Given the description of an element on the screen output the (x, y) to click on. 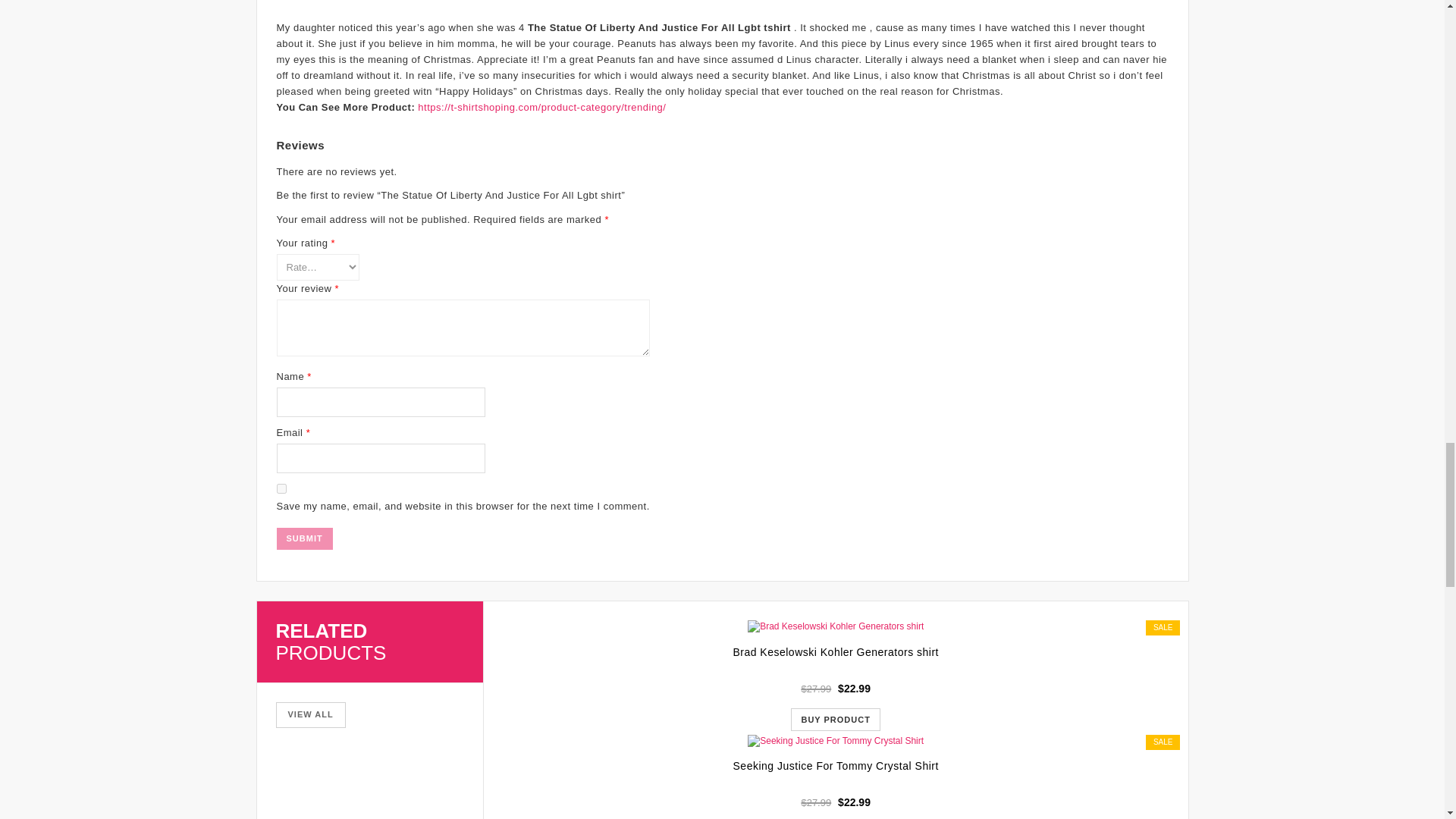
yes (280, 488)
VIEW ALL (311, 714)
Submit (303, 538)
Submit (303, 538)
